Given the description of an element on the screen output the (x, y) to click on. 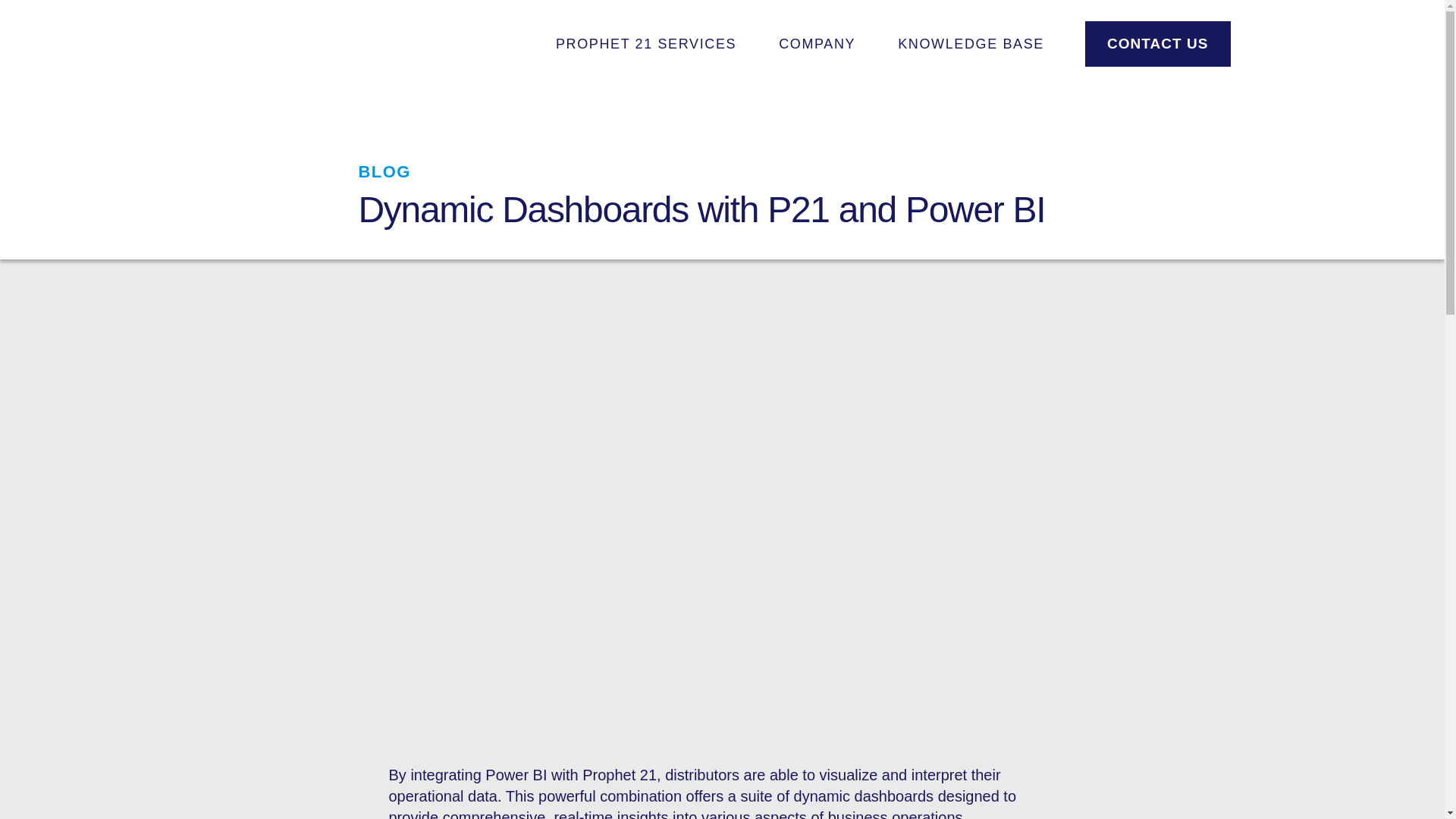
COMPANY (816, 43)
PROPHET 21 SERVICES (645, 43)
KNOWLEDGE BASE (970, 43)
CONTACT US (1157, 43)
BLOG (384, 171)
